Given the description of an element on the screen output the (x, y) to click on. 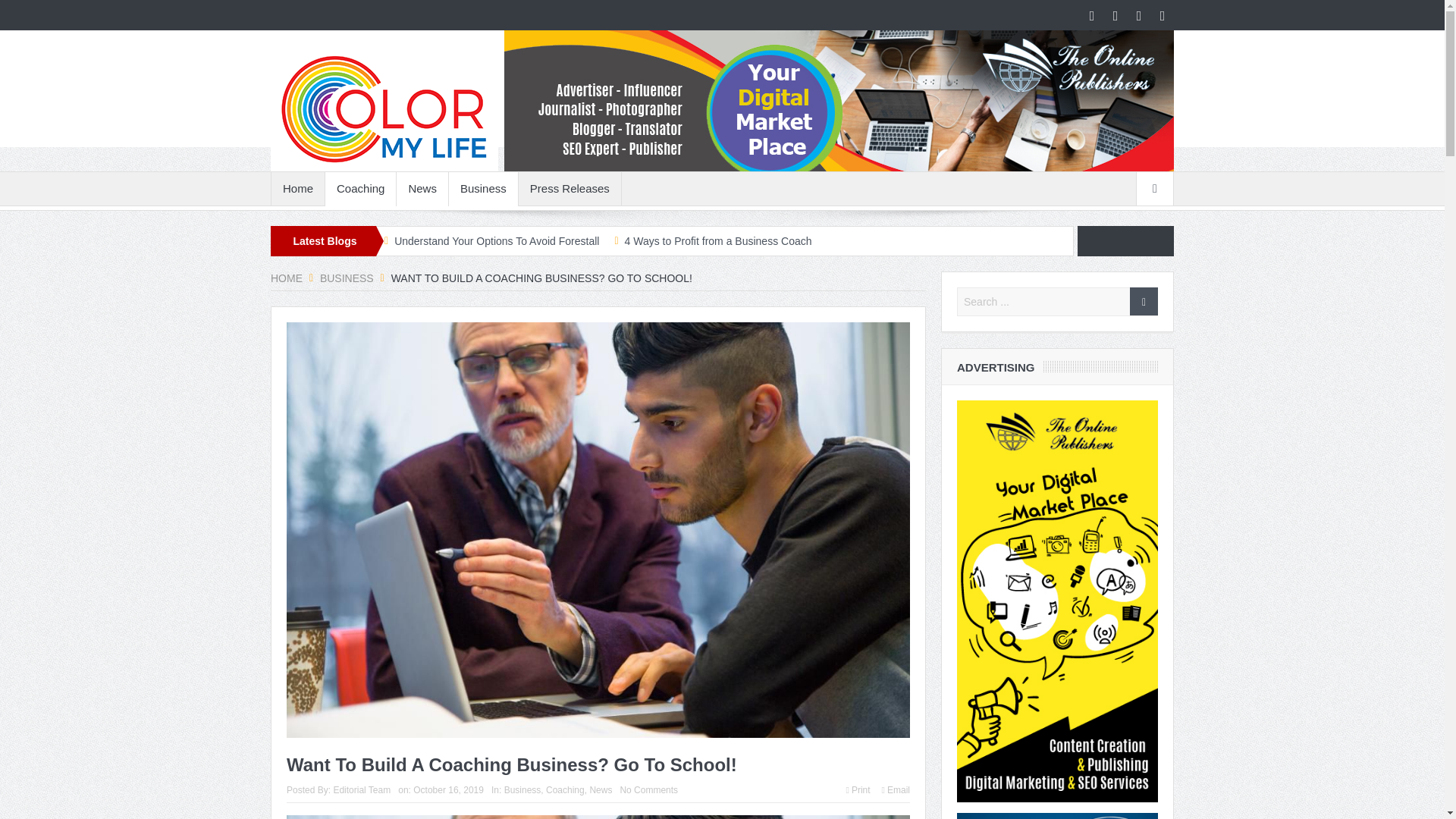
No Comments (649, 789)
Business (483, 188)
View all posts in Business (522, 789)
Coaching (565, 789)
BUSINESS (347, 277)
Email (896, 789)
Understand Your Options To Avoid Forestall (496, 241)
4 Ways to Profit from a Business Coach (718, 241)
Coaching (360, 188)
Business (347, 277)
